Given the description of an element on the screen output the (x, y) to click on. 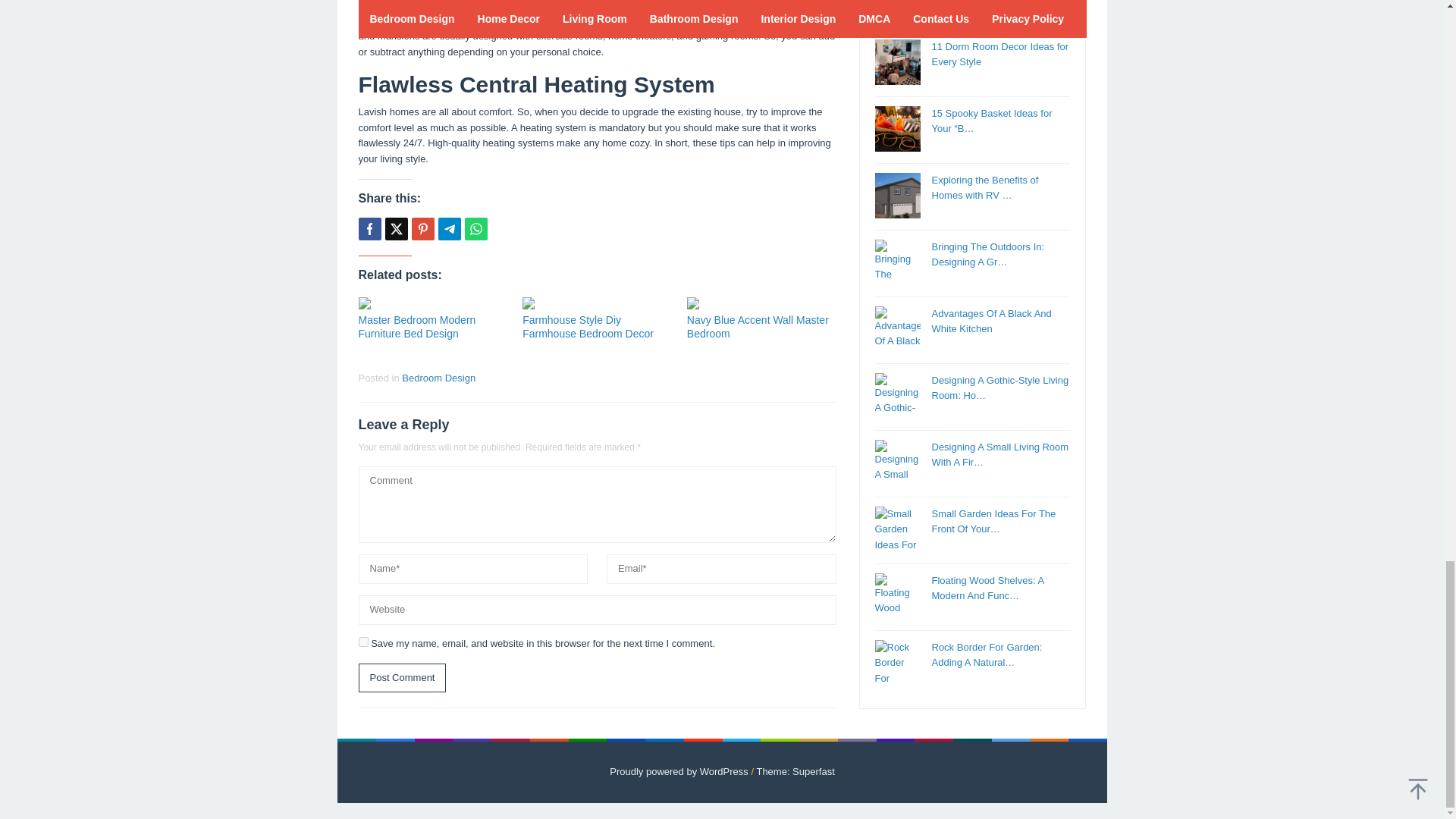
Permalink to: Farmhouse Style Diy Farmhouse Bedroom Decor (587, 326)
Master Bedroom Modern Furniture Bed Design (417, 326)
Bedroom Design (438, 378)
Farmhouse Style Diy Farmhouse Bedroom Decor (587, 326)
Tweet this (396, 228)
Post Comment (401, 677)
Permalink to: Farmhouse Style Diy Farmhouse Bedroom Decor (596, 303)
Permalink to: Navy Blue Accent Wall Master Bedroom (757, 326)
Share this (369, 228)
Telegram Share (449, 228)
